Given the description of an element on the screen output the (x, y) to click on. 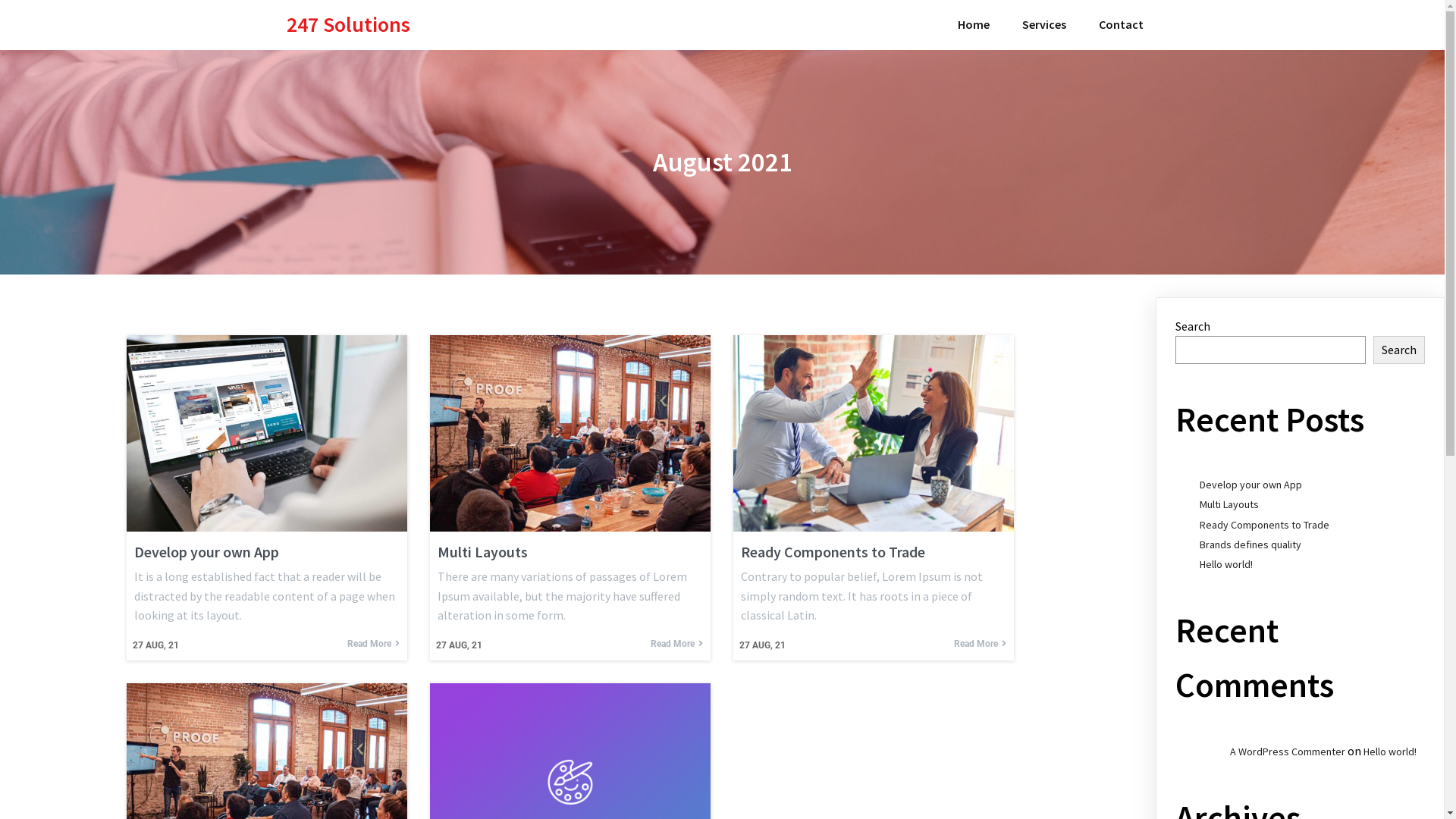
Brands defines quality Element type: text (1250, 544)
A WordPress Commenter Element type: text (1287, 751)
Home Element type: text (972, 24)
Read More Element type: text (676, 643)
Contact Element type: text (1119, 24)
Multi Layouts Element type: text (1228, 504)
Develop your own App Element type: text (1250, 484)
Hello world! Element type: text (1389, 751)
Ready Components to Trade Element type: text (873, 551)
247 Solutions Element type: text (411, 24)
Services Element type: text (1044, 24)
Multi Layouts Element type: text (569, 551)
Search Element type: text (1398, 349)
Read More Element type: text (373, 643)
Hello world! Element type: text (1225, 564)
Read More Element type: text (979, 643)
Develop your own App Element type: text (266, 551)
Ready Components to Trade Element type: text (1264, 524)
